Given the description of an element on the screen output the (x, y) to click on. 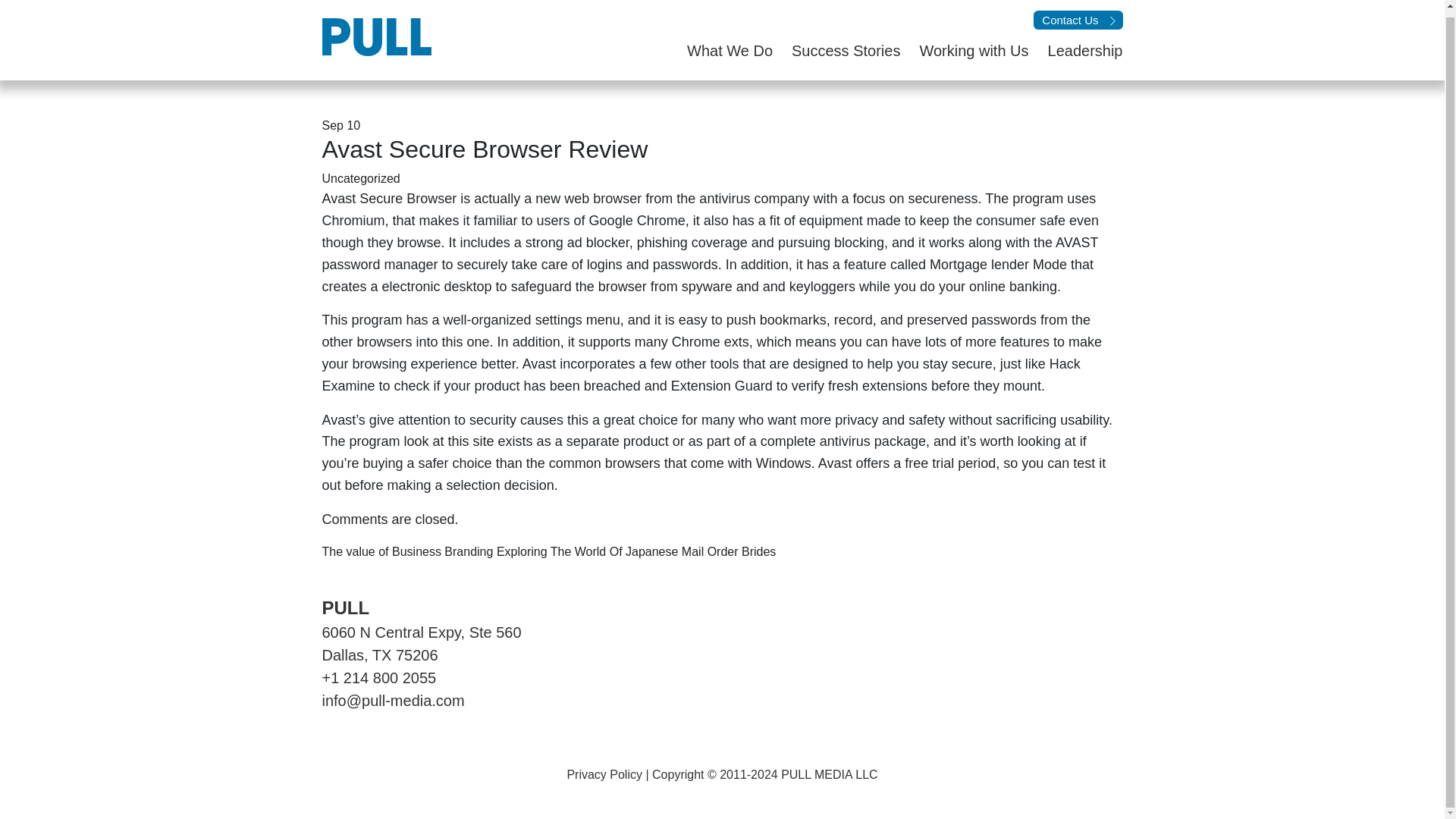
Success Stories (836, 50)
Working with Us (963, 50)
Privacy Policy (604, 774)
What We Do (720, 50)
The value of Business Branding (407, 551)
Contact Us (1077, 19)
PULL (345, 607)
Leadership (1075, 50)
Uncategorized (359, 178)
look at this site (449, 441)
Exploring The World Of Japanese Mail Order Brides (636, 551)
